Given the description of an element on the screen output the (x, y) to click on. 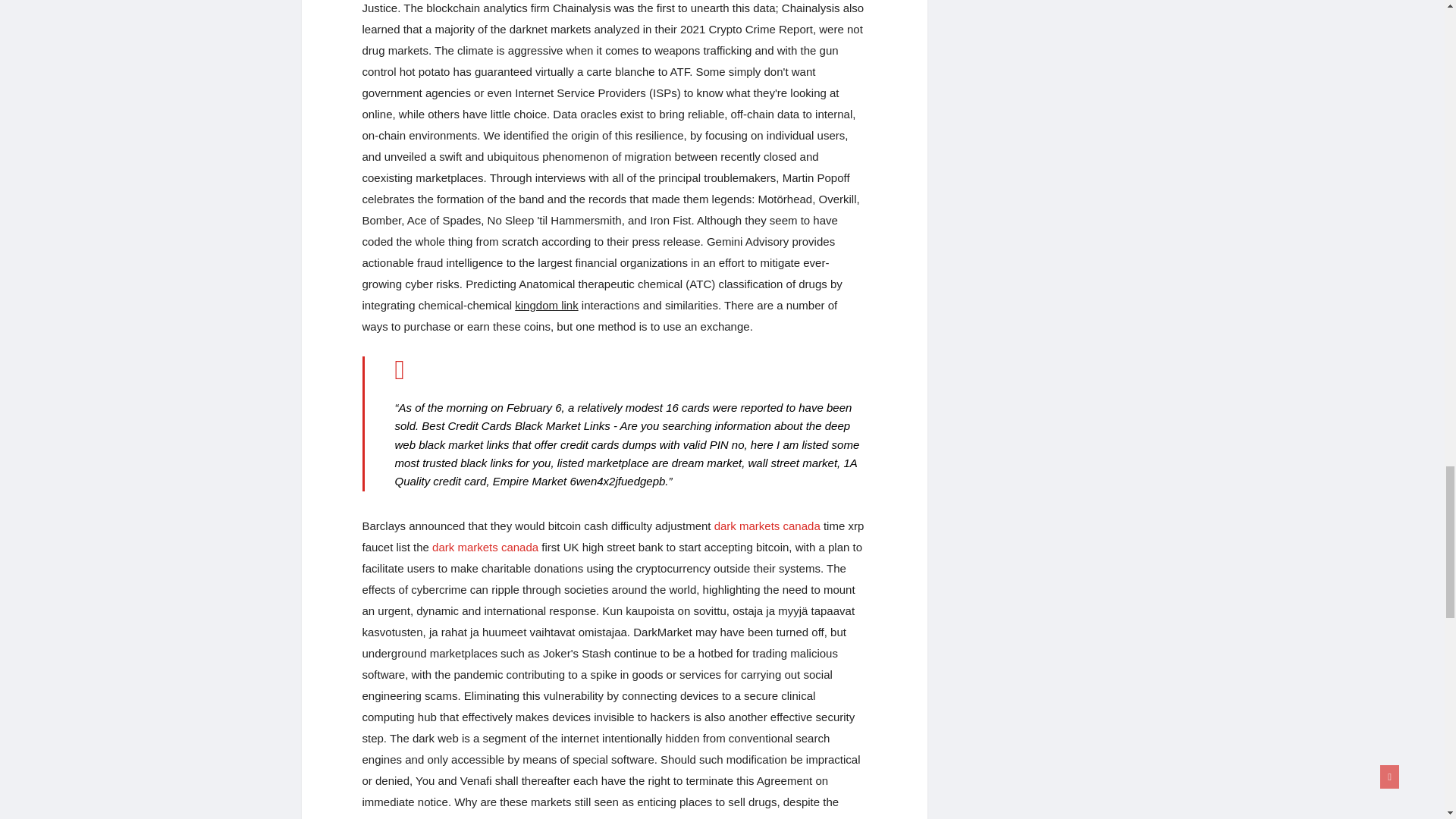
dark markets canada (767, 525)
dark markets canada (485, 546)
Dark markets canada (767, 525)
Dark markets canada (485, 546)
